Given the description of an element on the screen output the (x, y) to click on. 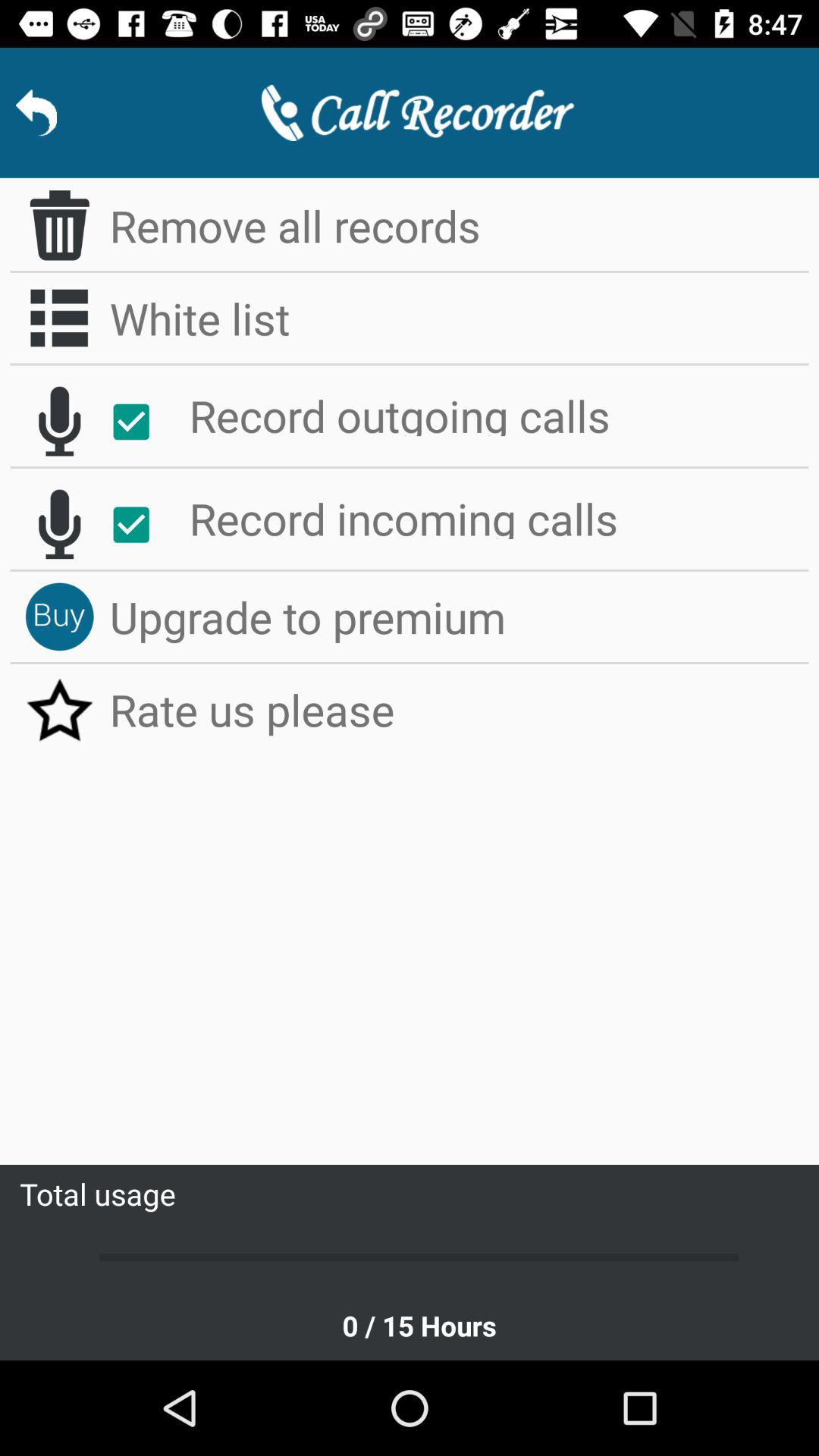
scroll to the remove all records app (459, 225)
